Given the description of an element on the screen output the (x, y) to click on. 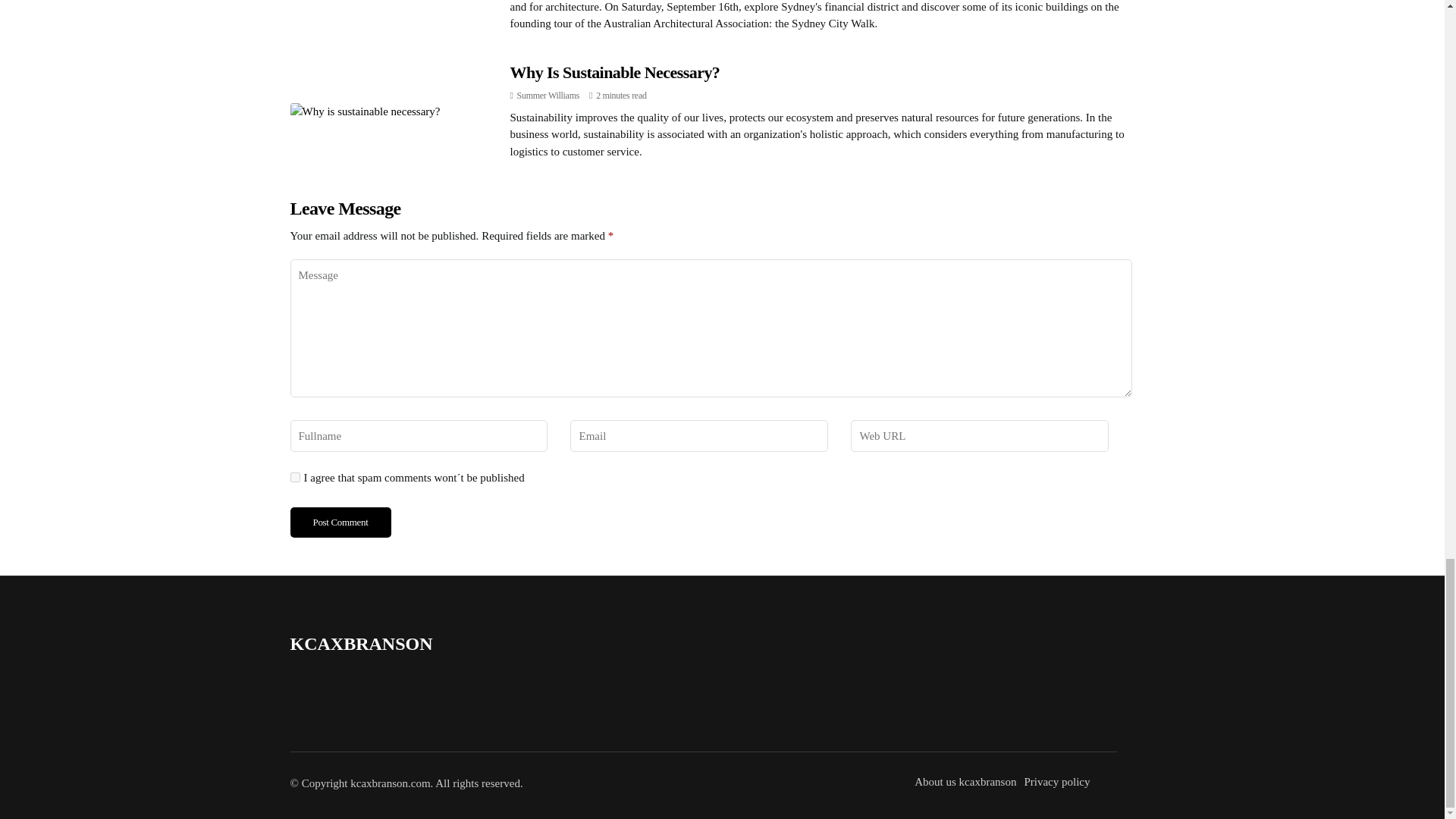
Posts by Summer Williams (547, 95)
Post Comment (339, 521)
Why Is Sustainable Necessary? (614, 72)
Post Comment (339, 521)
Summer Williams (547, 95)
yes (294, 477)
